Given the description of an element on the screen output the (x, y) to click on. 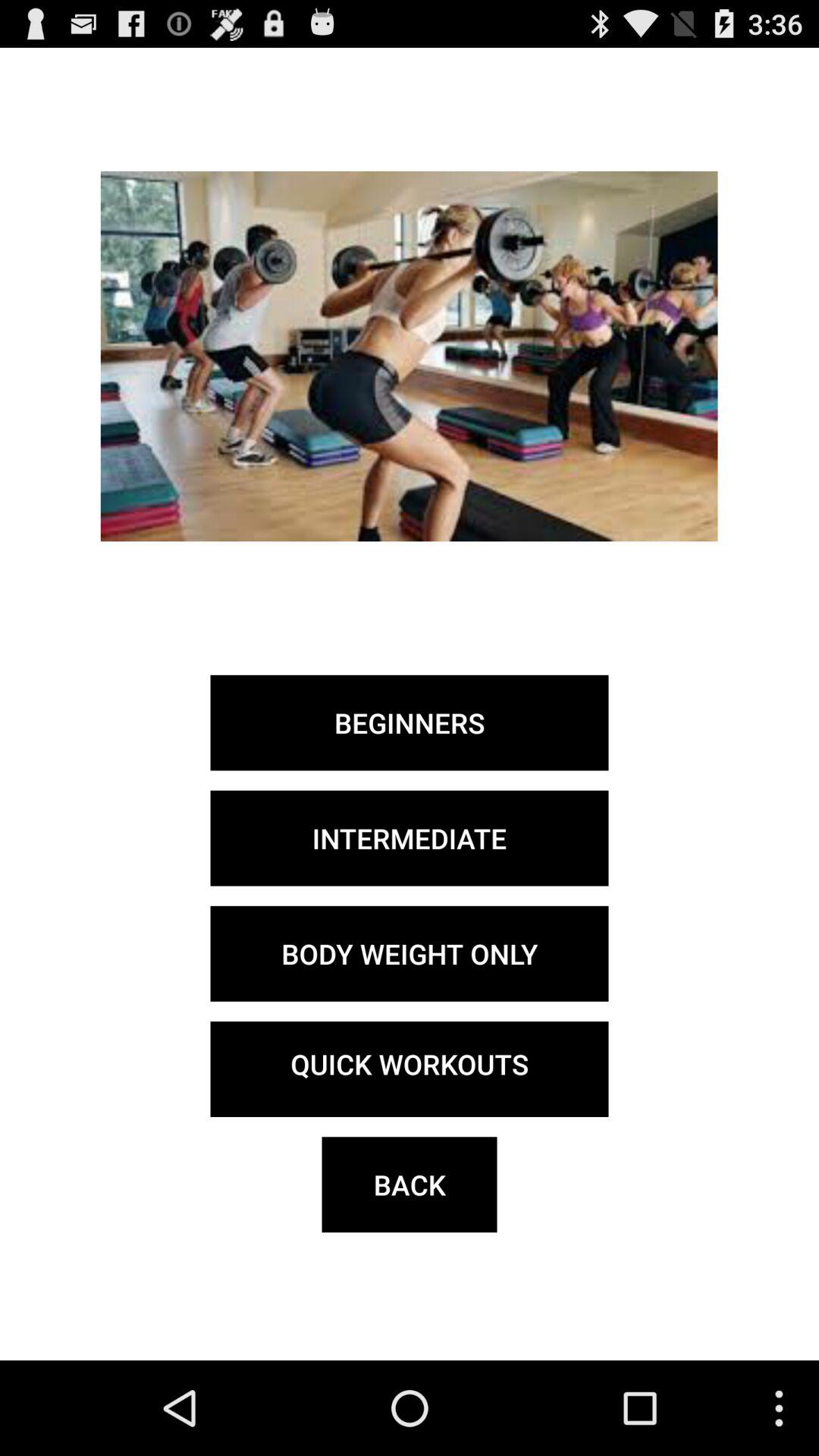
turn on the beginners item (409, 722)
